Given the description of an element on the screen output the (x, y) to click on. 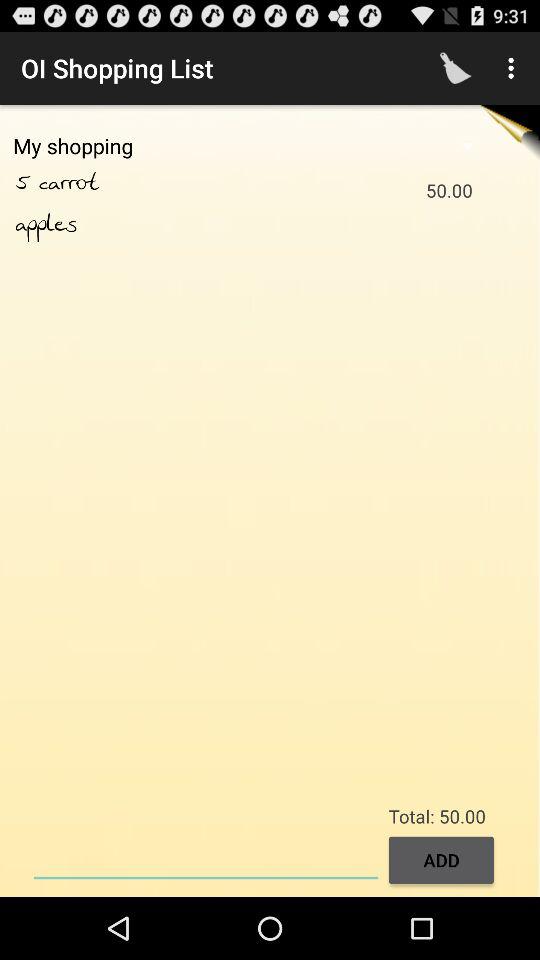
click icon next to the 50.00 (45, 224)
